Given the description of an element on the screen output the (x, y) to click on. 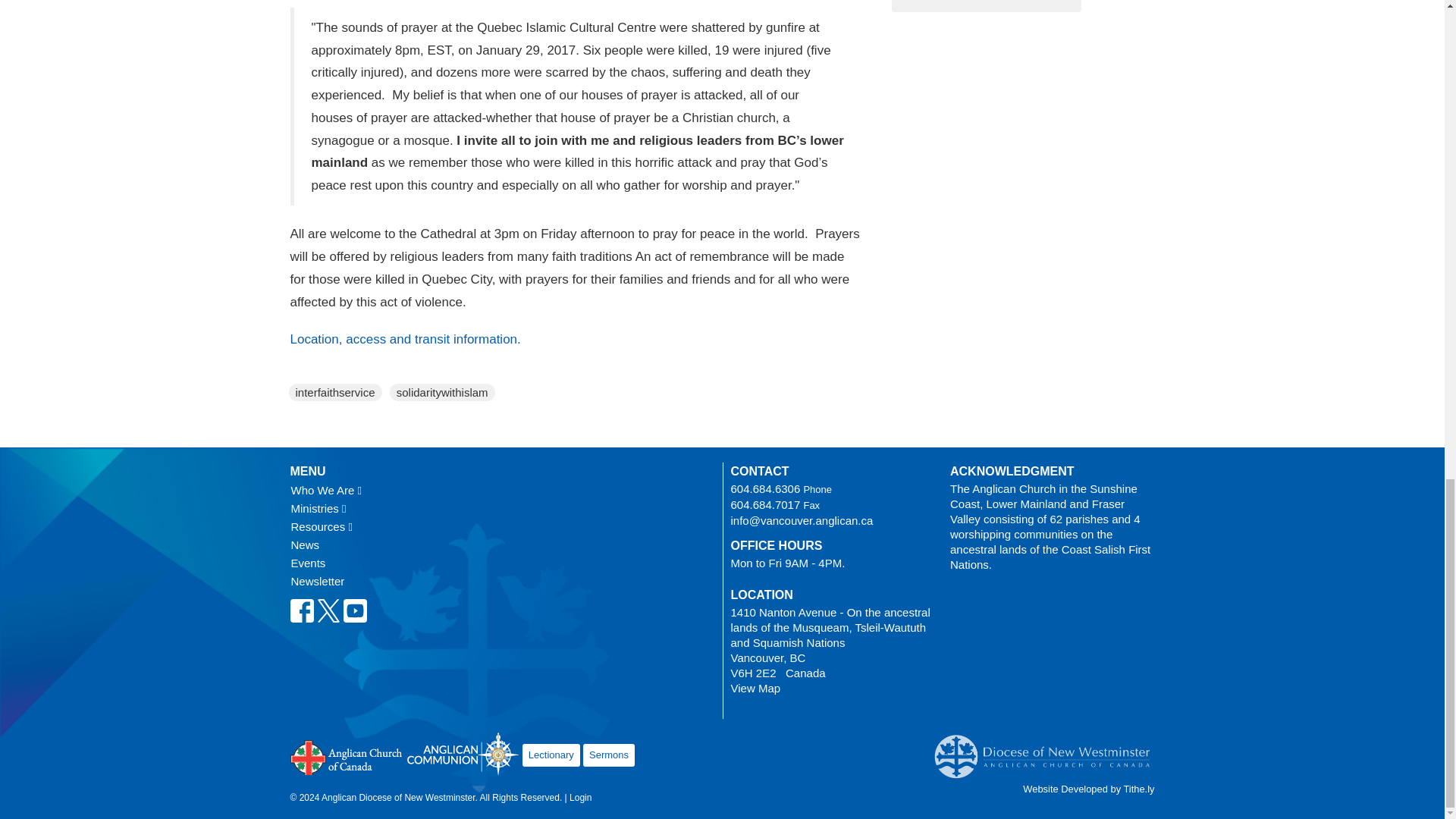
solidaritywithislam (441, 392)
Twitter Icon (328, 610)
Facebook Icon (301, 610)
interfaithservice (335, 392)
Location, access and transit information. (404, 339)
Youtube Icon (354, 610)
